Given the description of an element on the screen output the (x, y) to click on. 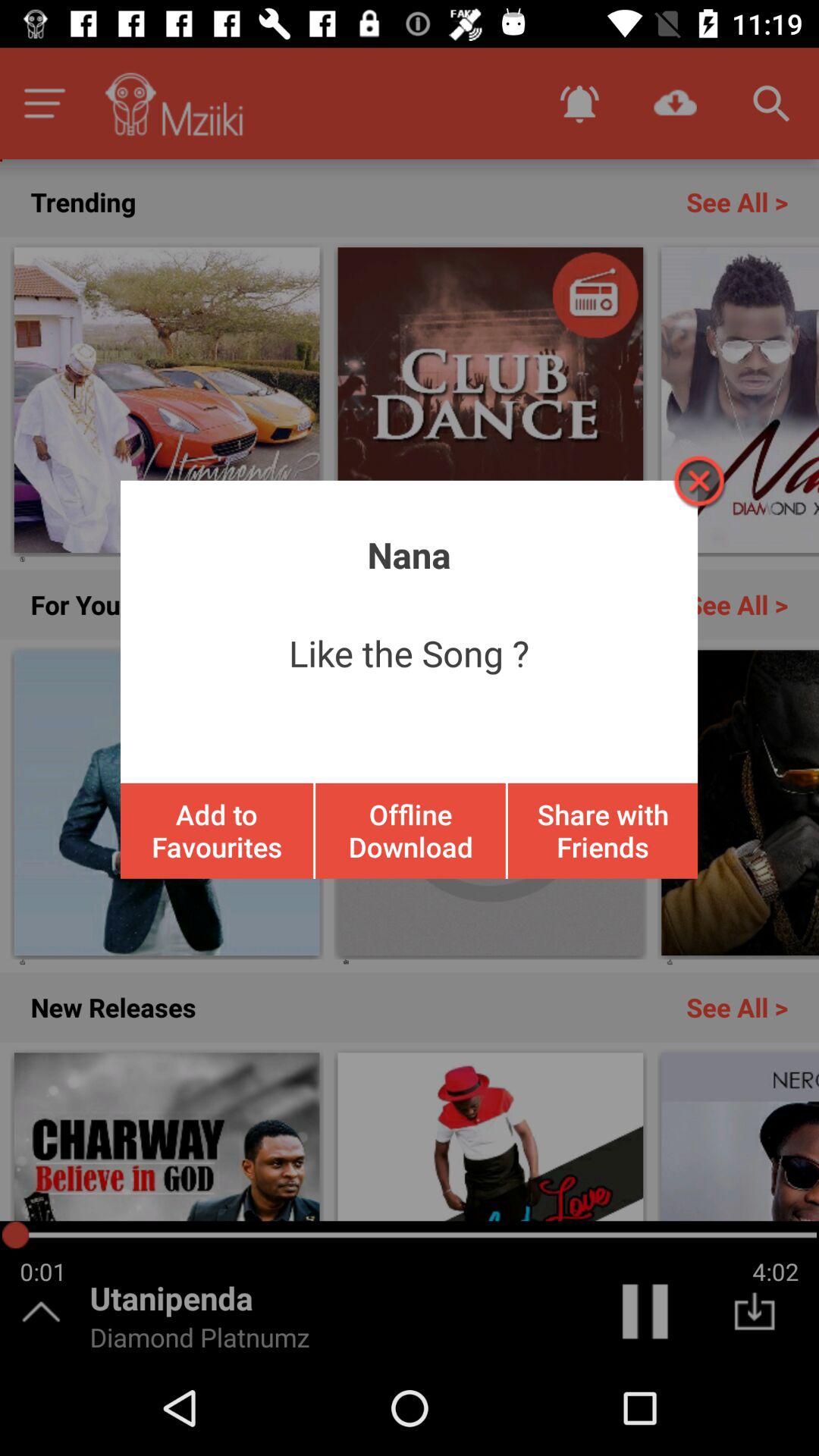
select icon next to the nana app (698, 480)
